Given the description of an element on the screen output the (x, y) to click on. 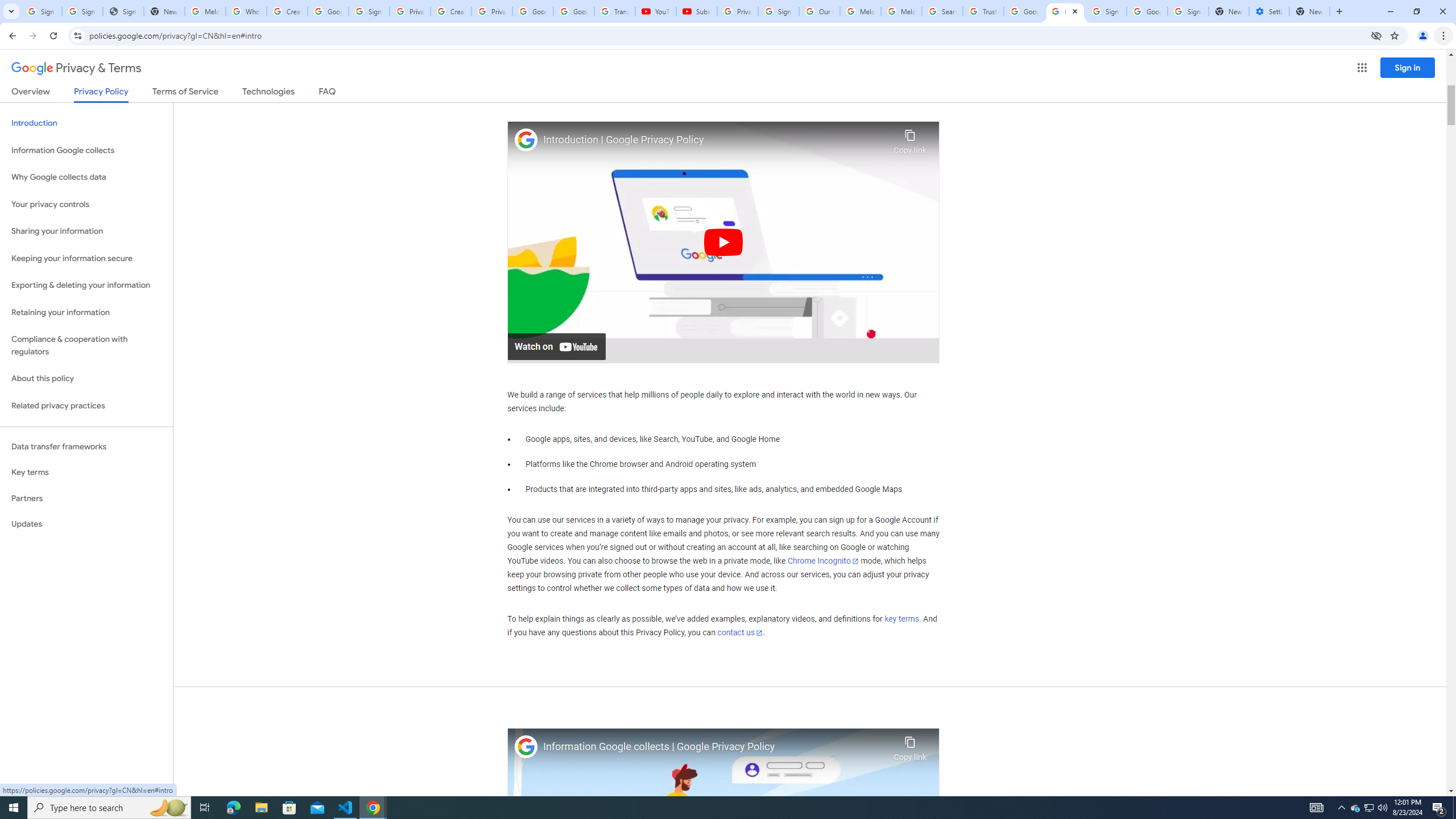
Sign In - USA TODAY (122, 11)
Create your Google Account (287, 11)
Sign in - Google Accounts (1105, 11)
Sign in - Google Accounts (41, 11)
New Tab (1309, 11)
Sign in - Google Accounts (81, 11)
Compliance & cooperation with regulators (86, 345)
